Given the description of an element on the screen output the (x, y) to click on. 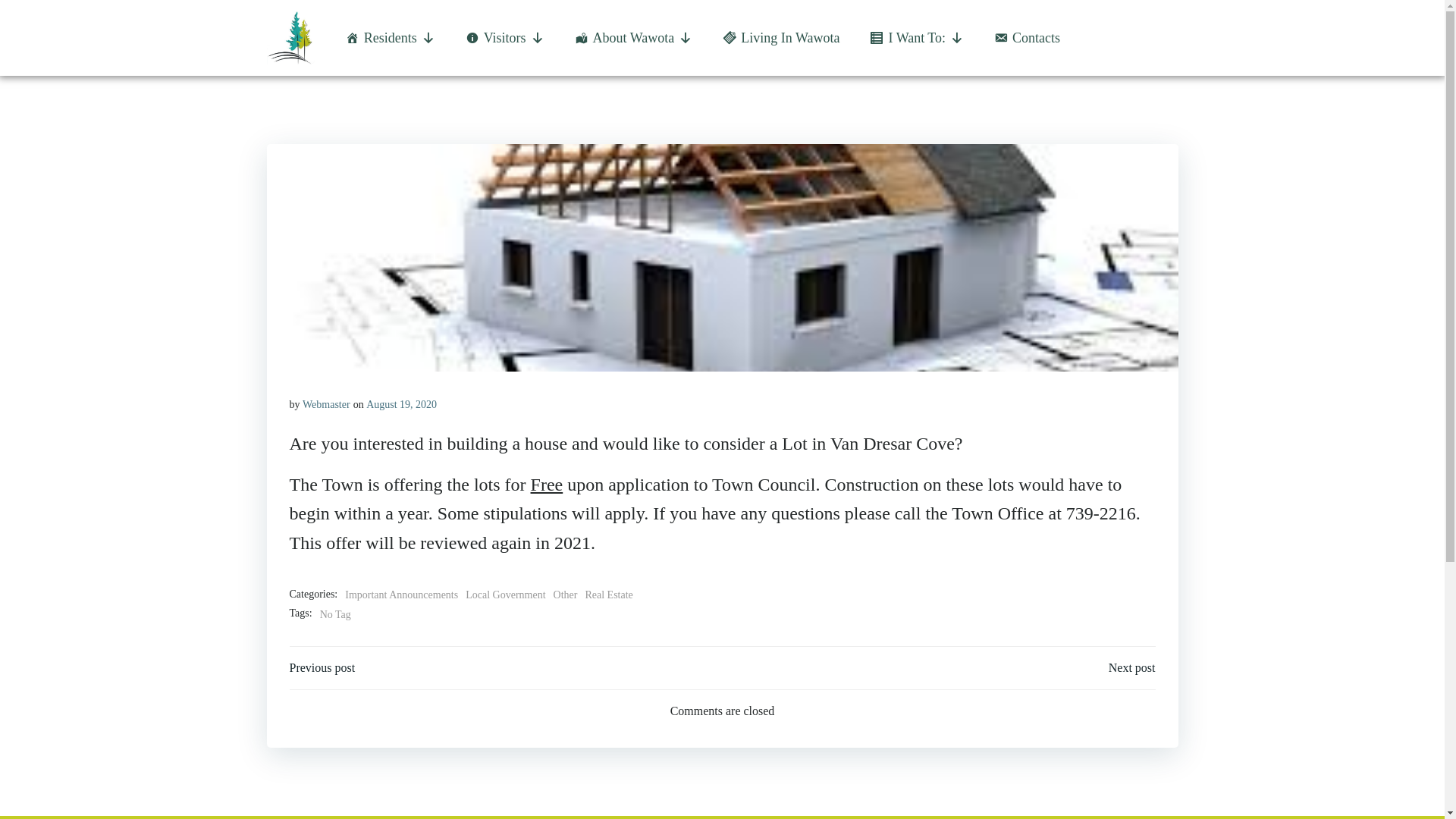
About Wawota (633, 37)
Visitors (504, 37)
Living In Wawota (780, 37)
I Want To: (916, 37)
Residents (389, 37)
Contacts (1027, 37)
